Given the description of an element on the screen output the (x, y) to click on. 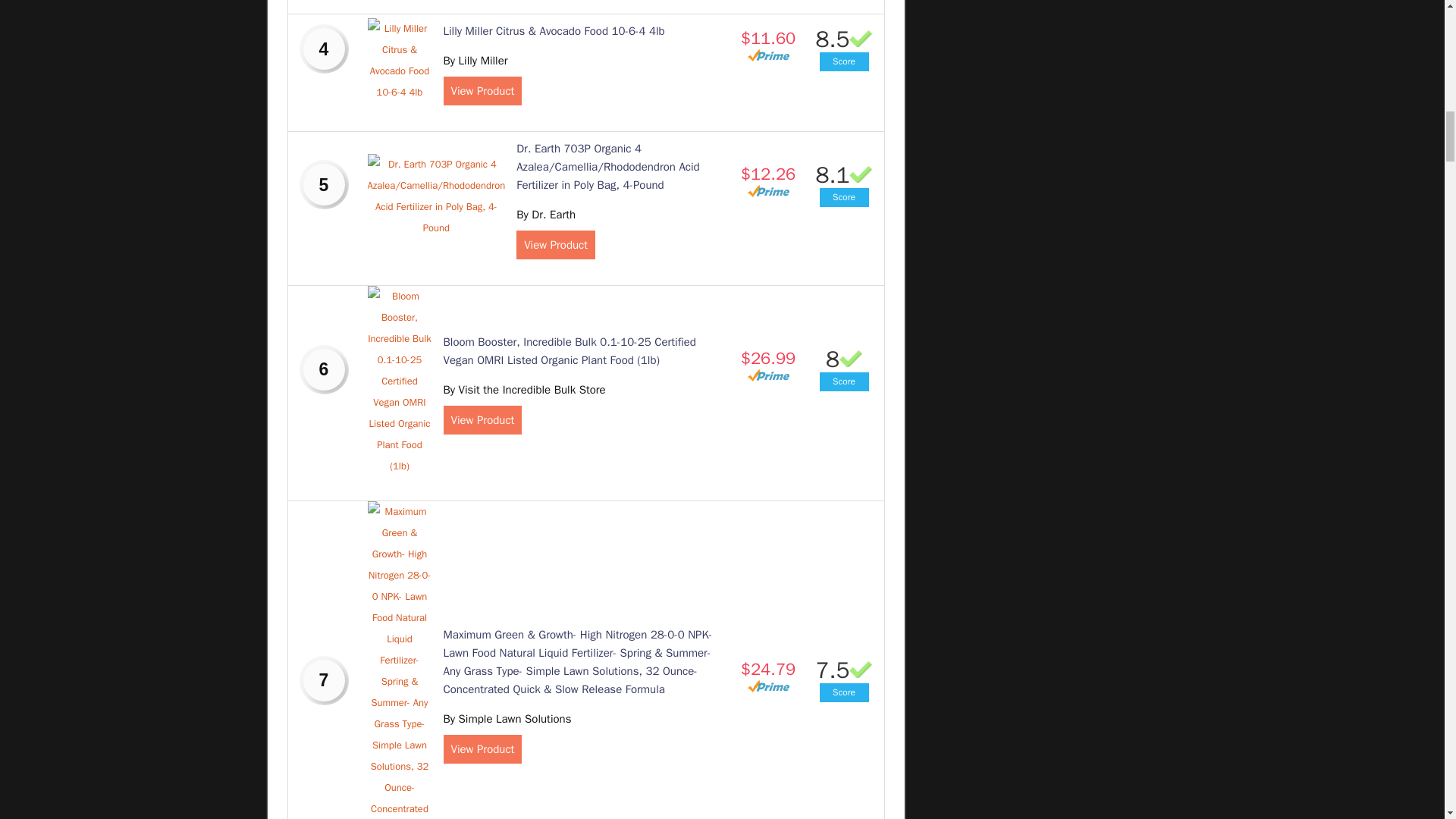
View Product (481, 419)
By Lilly Miller (474, 60)
View Product (555, 244)
By Visit the Incredible Bulk Store (523, 389)
By Dr. Earth (545, 214)
View Product (481, 748)
By Simple Lawn Solutions (506, 718)
View Product (481, 90)
